Given the description of an element on the screen output the (x, y) to click on. 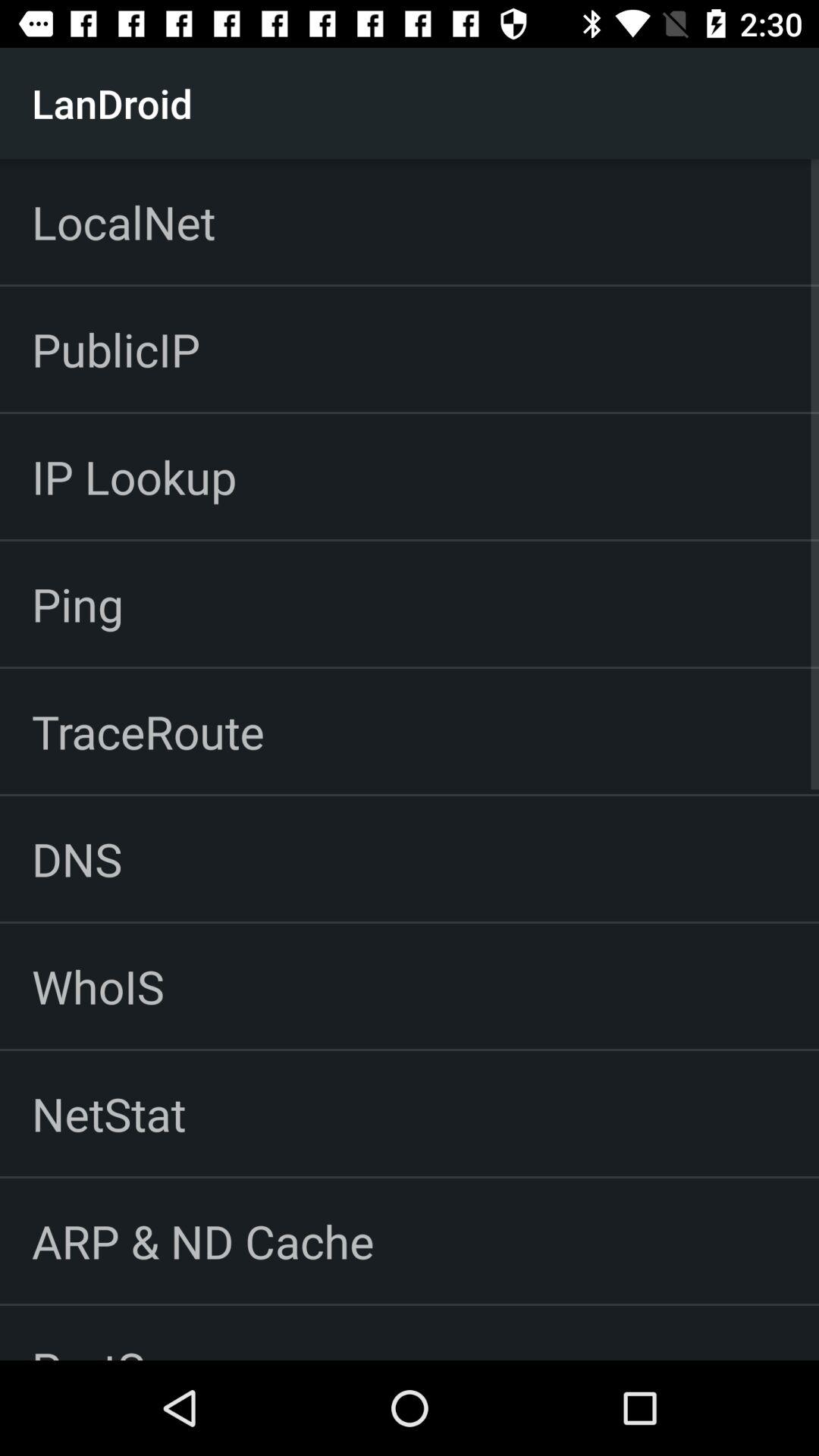
tap icon above whois (77, 858)
